Given the description of an element on the screen output the (x, y) to click on. 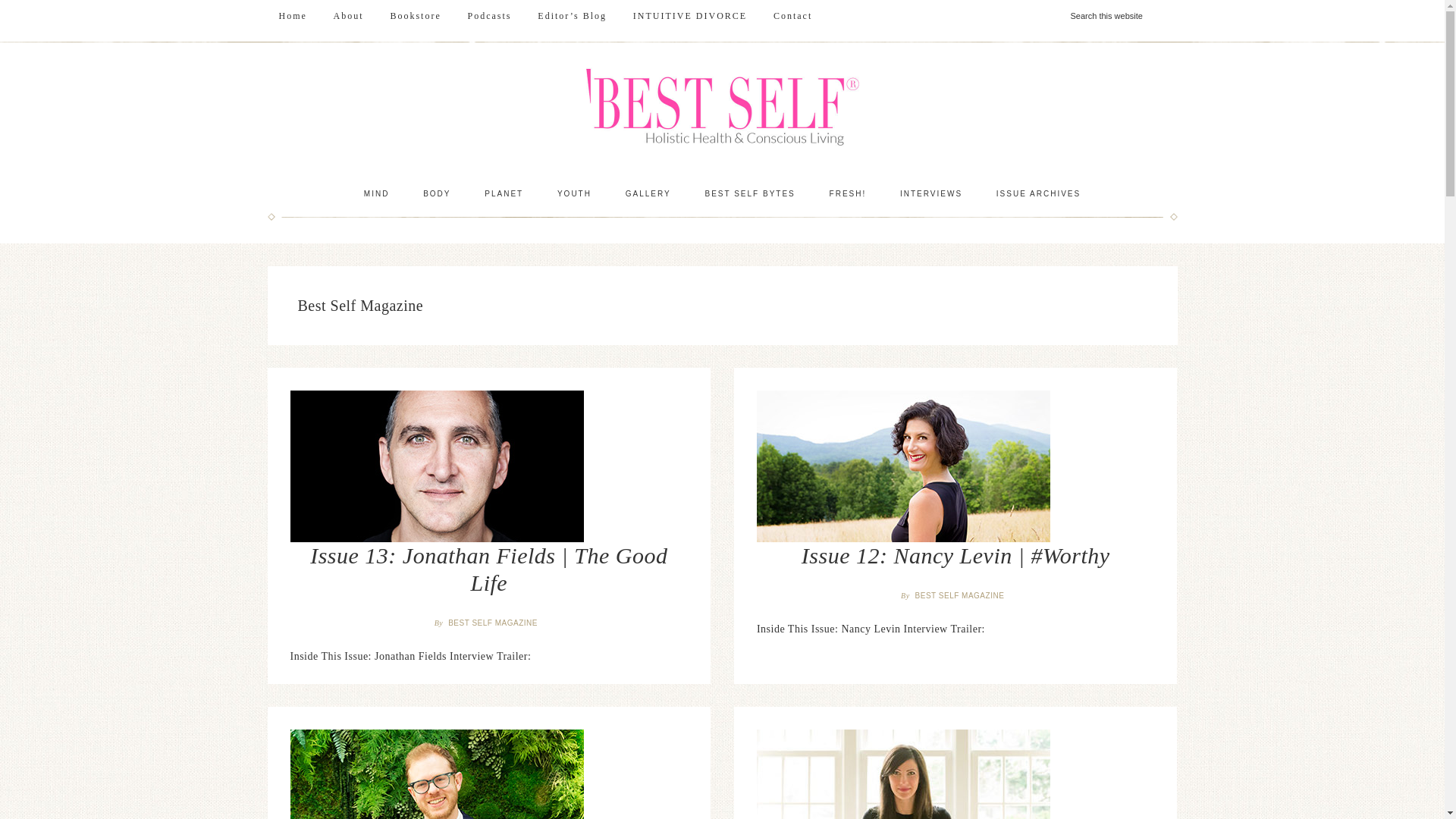
MIND (376, 193)
BODY (436, 193)
Bookstore (414, 15)
YOUTH (574, 193)
Podcasts (489, 15)
About (348, 15)
Home (291, 15)
BEST SELF (722, 108)
Contact (792, 15)
PLANET (503, 193)
INTUITIVE DIVORCE (689, 15)
